Given the description of an element on the screen output the (x, y) to click on. 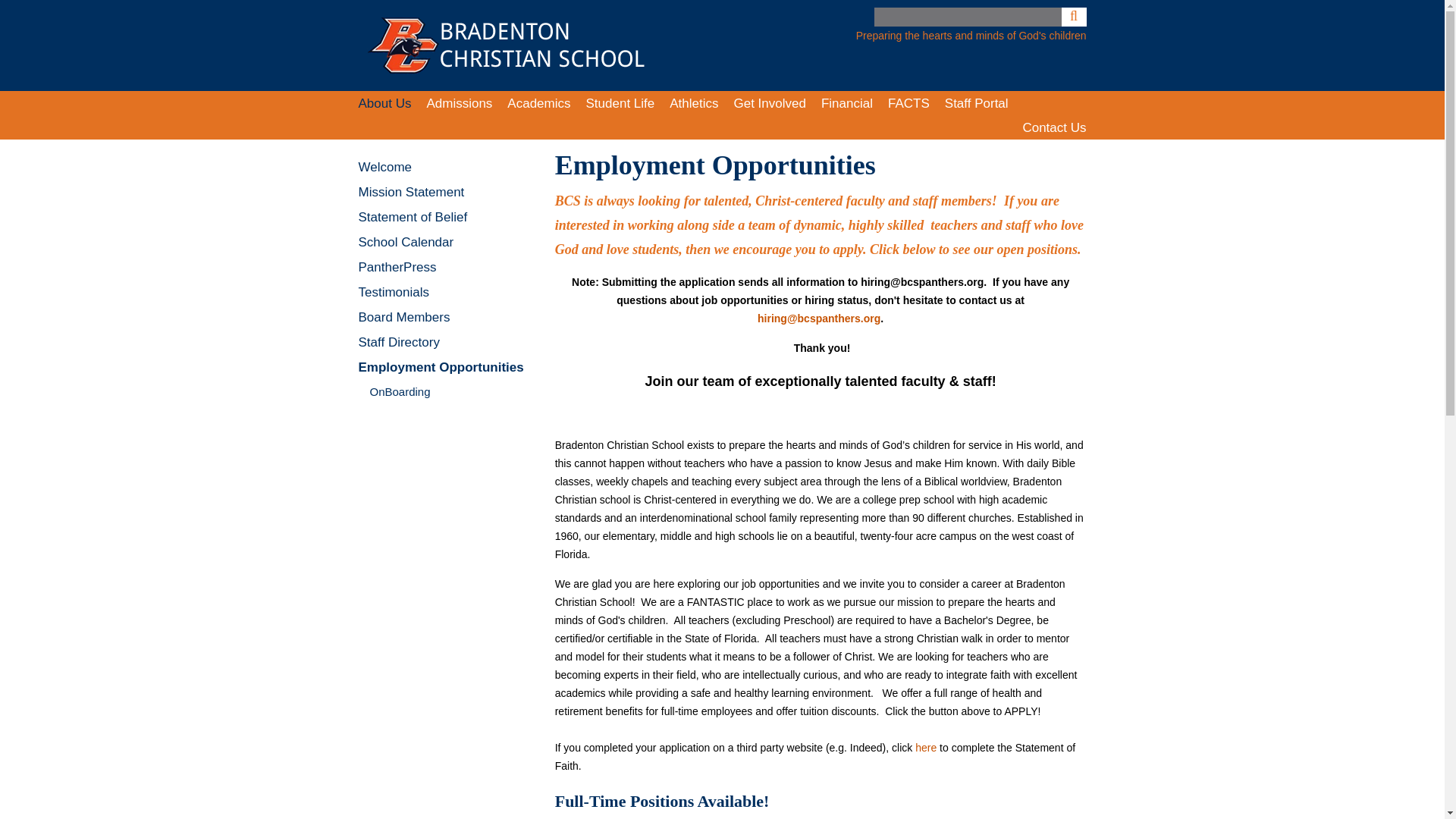
search (967, 16)
Student Life (619, 102)
Academics (538, 102)
About Us (384, 102)
Statement of Faith (925, 747)
Admissions (459, 102)
